Given the description of an element on the screen output the (x, y) to click on. 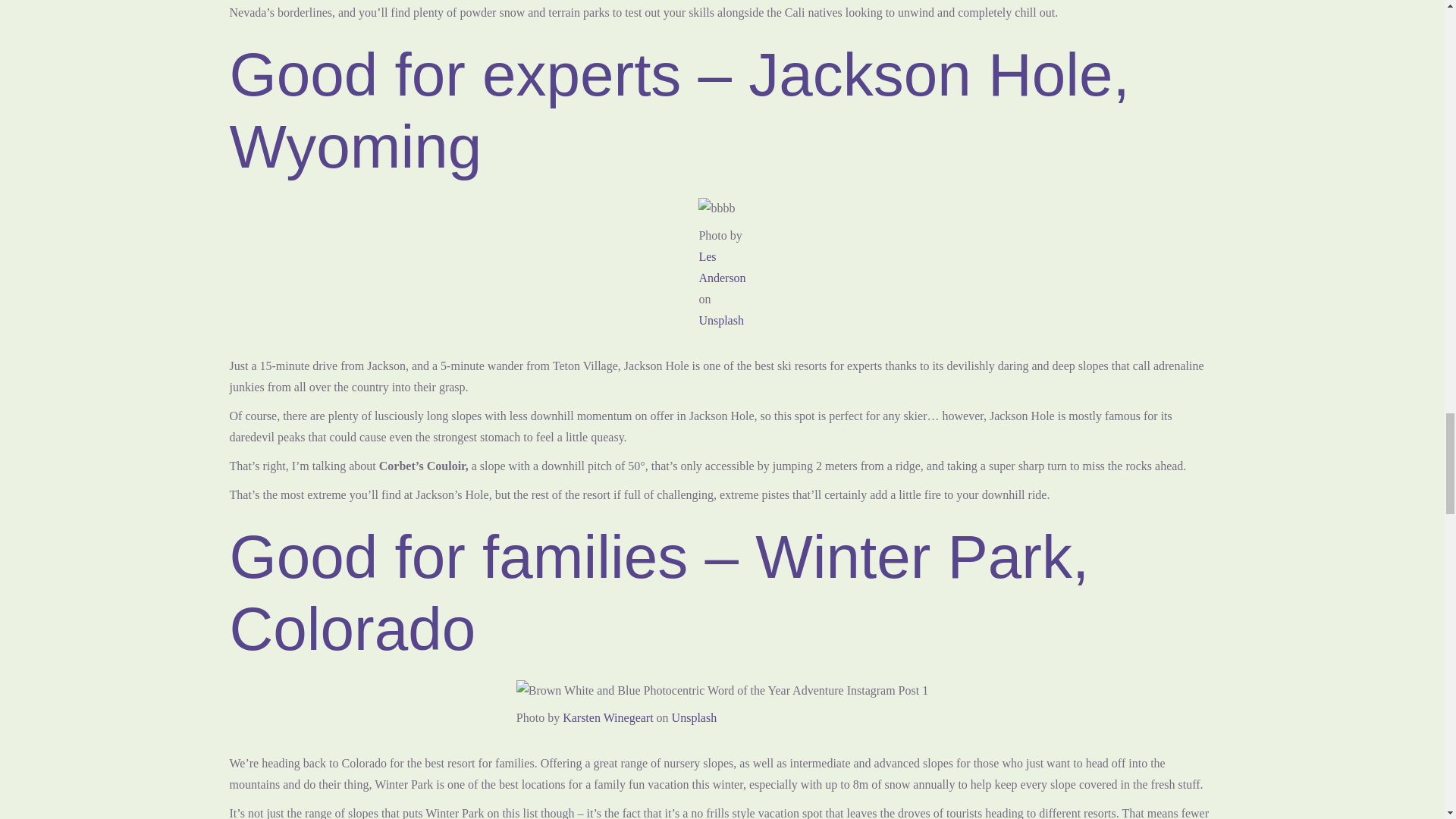
5 of The Best Spots to Ski in the US in 2022 5 (722, 690)
5 of The Best Spots to Ski in the US in 2022 4 (716, 208)
